Given the description of an element on the screen output the (x, y) to click on. 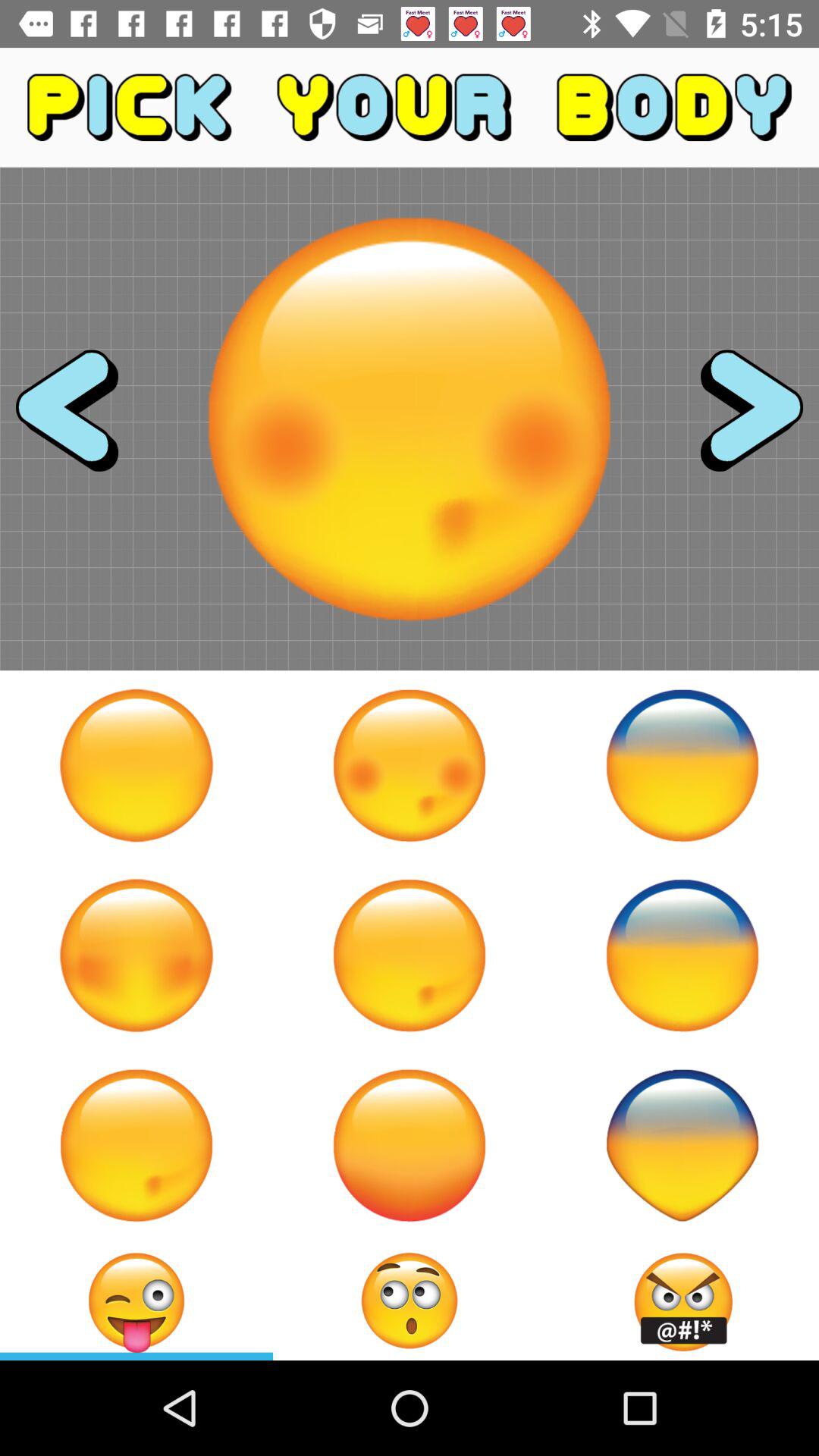
toggle next head shape (737, 418)
